Given the description of an element on the screen output the (x, y) to click on. 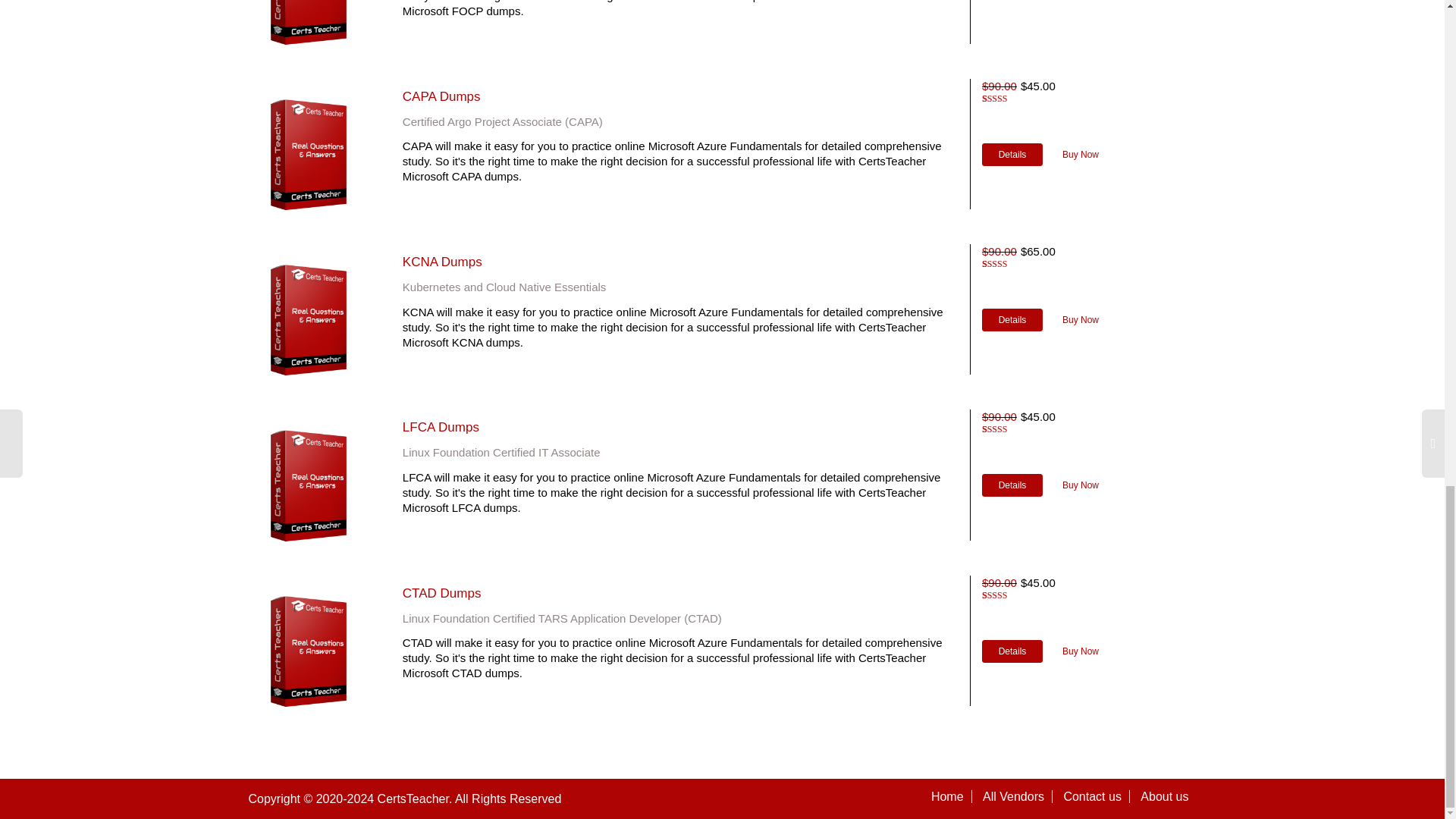
LFCA Dumps (441, 427)
Buy Now (1079, 485)
Buy Now (1079, 154)
Details (1011, 319)
CAPA Dumps (441, 96)
CTAD Dumps (442, 593)
Details (1011, 485)
Details (1011, 154)
KCNA Dumps (442, 261)
Buy Now (1079, 650)
Buy Now (1079, 319)
Details (1011, 650)
